Given the description of an element on the screen output the (x, y) to click on. 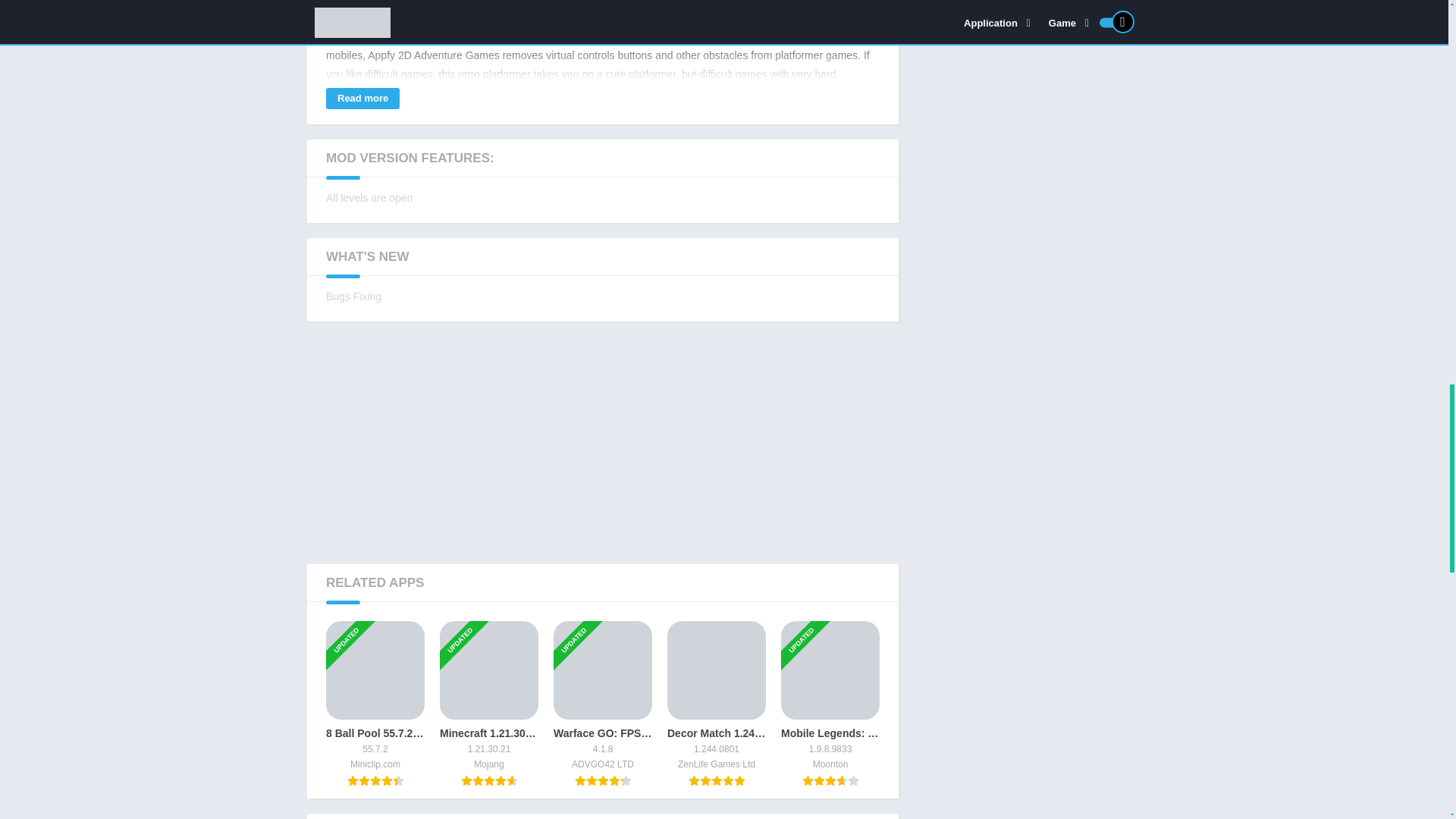
Advertisement (602, 442)
